Given the description of an element on the screen output the (x, y) to click on. 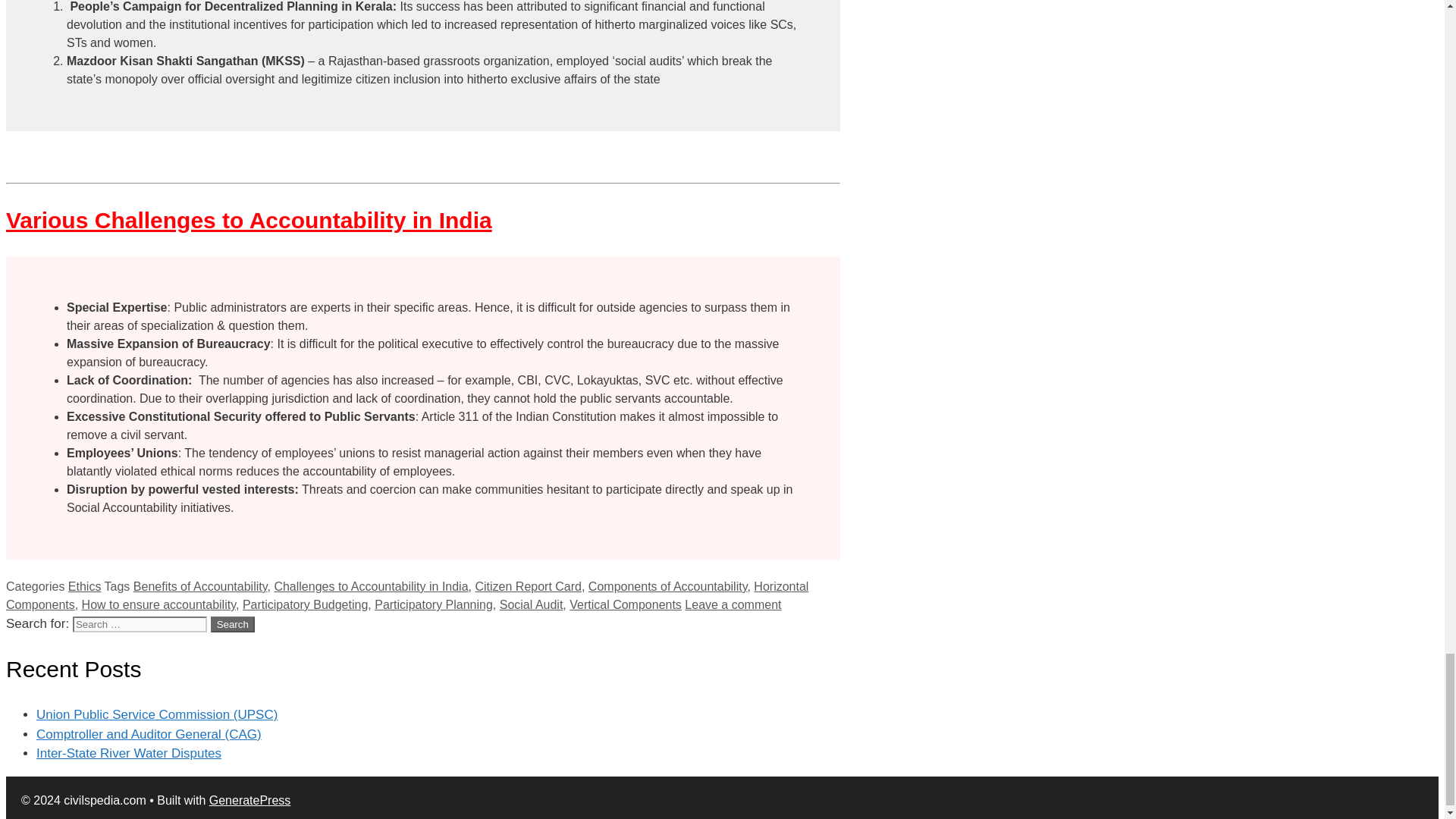
GeneratePress (250, 799)
Participatory Planning (433, 604)
Challenges to Accountability in India (370, 585)
Search (232, 624)
Leave a comment (732, 604)
Benefits of Accountability (200, 585)
Horizontal Components (406, 594)
Participatory Budgeting (305, 604)
Inter-State River Water Disputes (128, 753)
Citizen Report Card (527, 585)
Social Audit (531, 604)
Search for: (139, 624)
Search (232, 624)
How to ensure accountability (158, 604)
Ethics (84, 585)
